Given the description of an element on the screen output the (x, y) to click on. 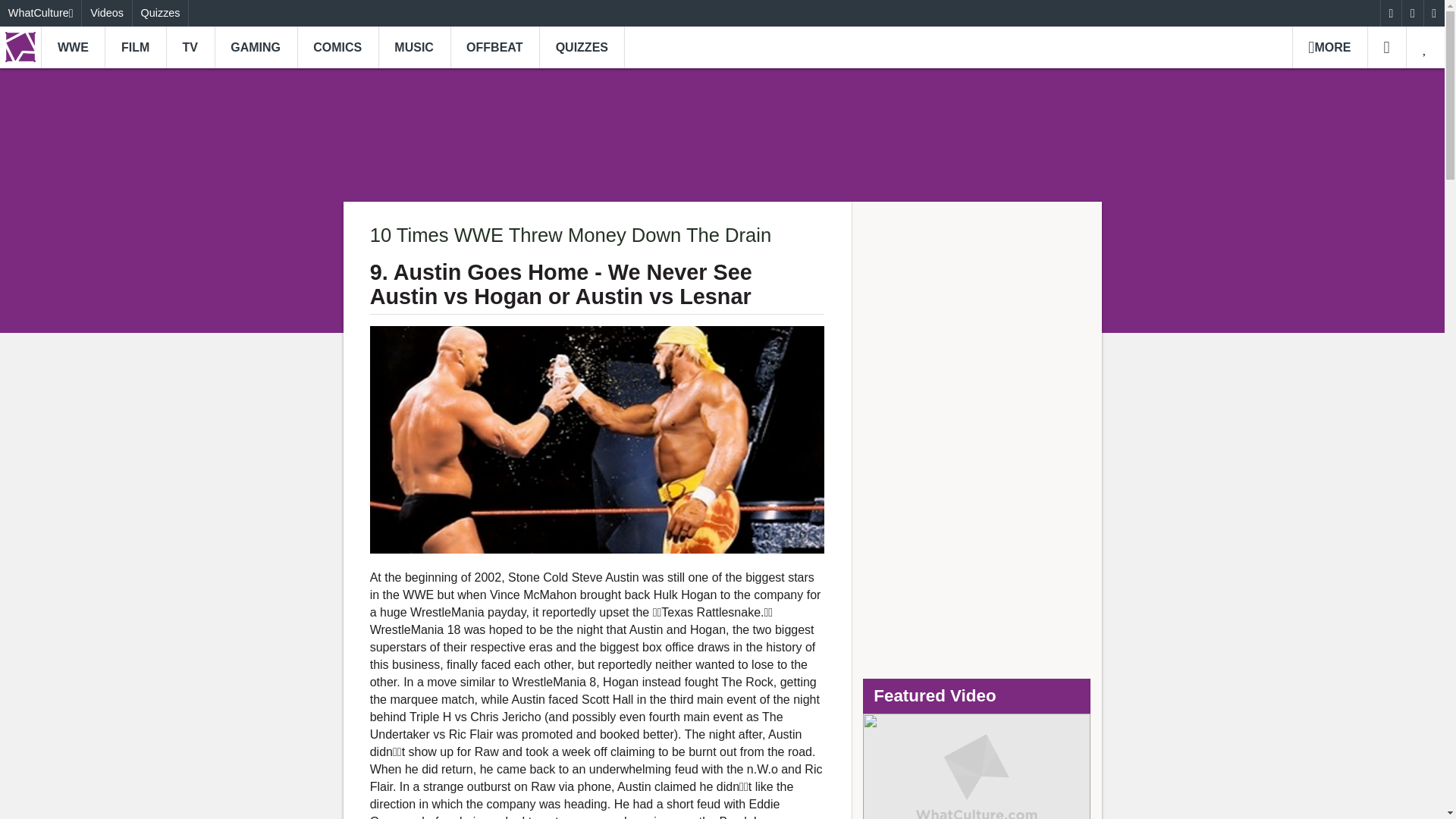
FILM (134, 46)
Quizzes (160, 13)
GAMING (255, 46)
Videos (106, 13)
MUSIC (413, 46)
TV (189, 46)
Featured Video (976, 766)
MORE (1329, 46)
WWE (72, 46)
COMICS (337, 46)
